Given the description of an element on the screen output the (x, y) to click on. 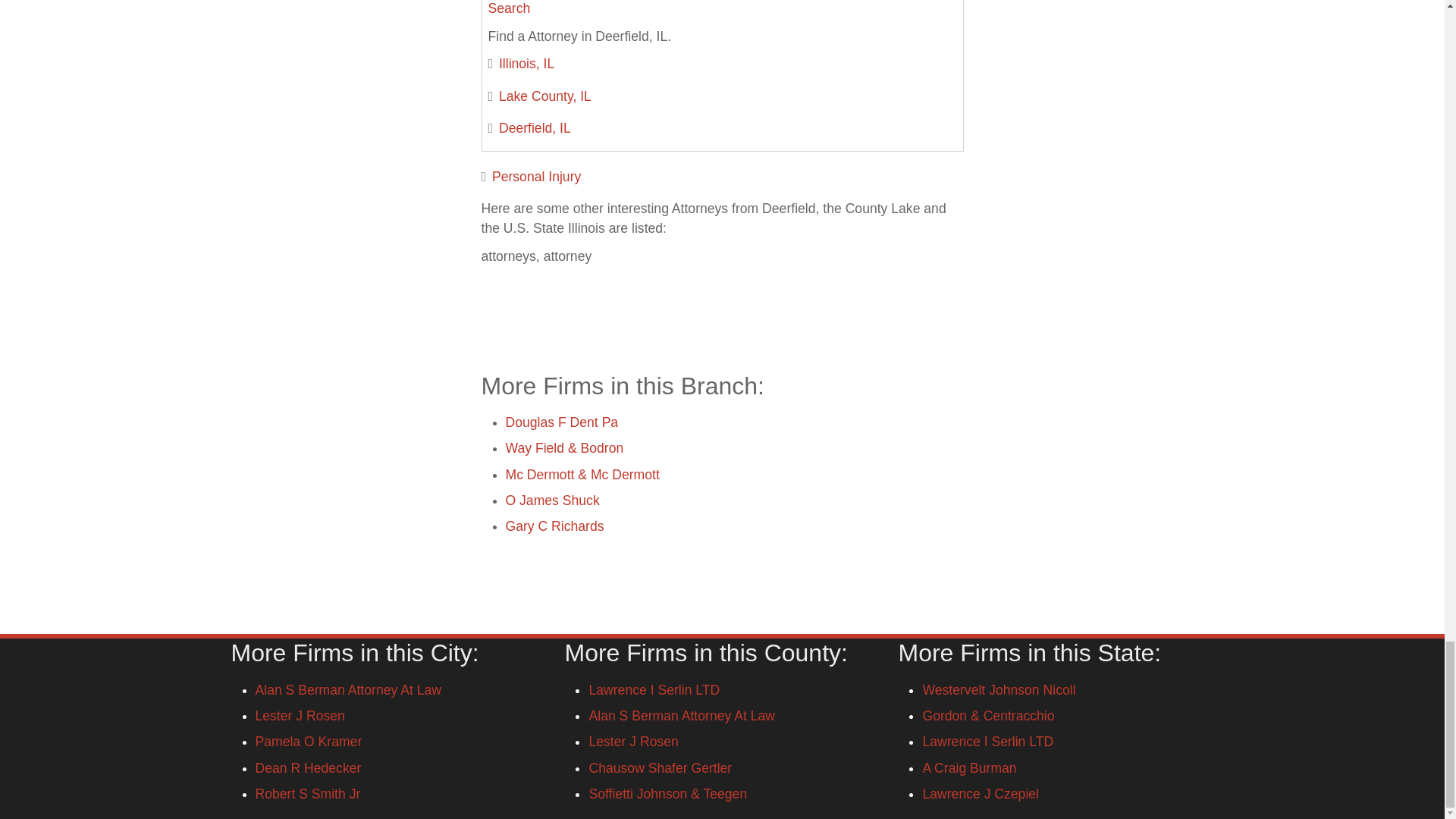
O James Shuck (551, 500)
Deerfield, IL (534, 127)
Illinois, IL (526, 63)
Lake County, IL (545, 96)
Douglas F Dent Pa (561, 421)
Personal Injury (536, 175)
Search (509, 7)
Gary C Richards (554, 525)
